Given the description of an element on the screen output the (x, y) to click on. 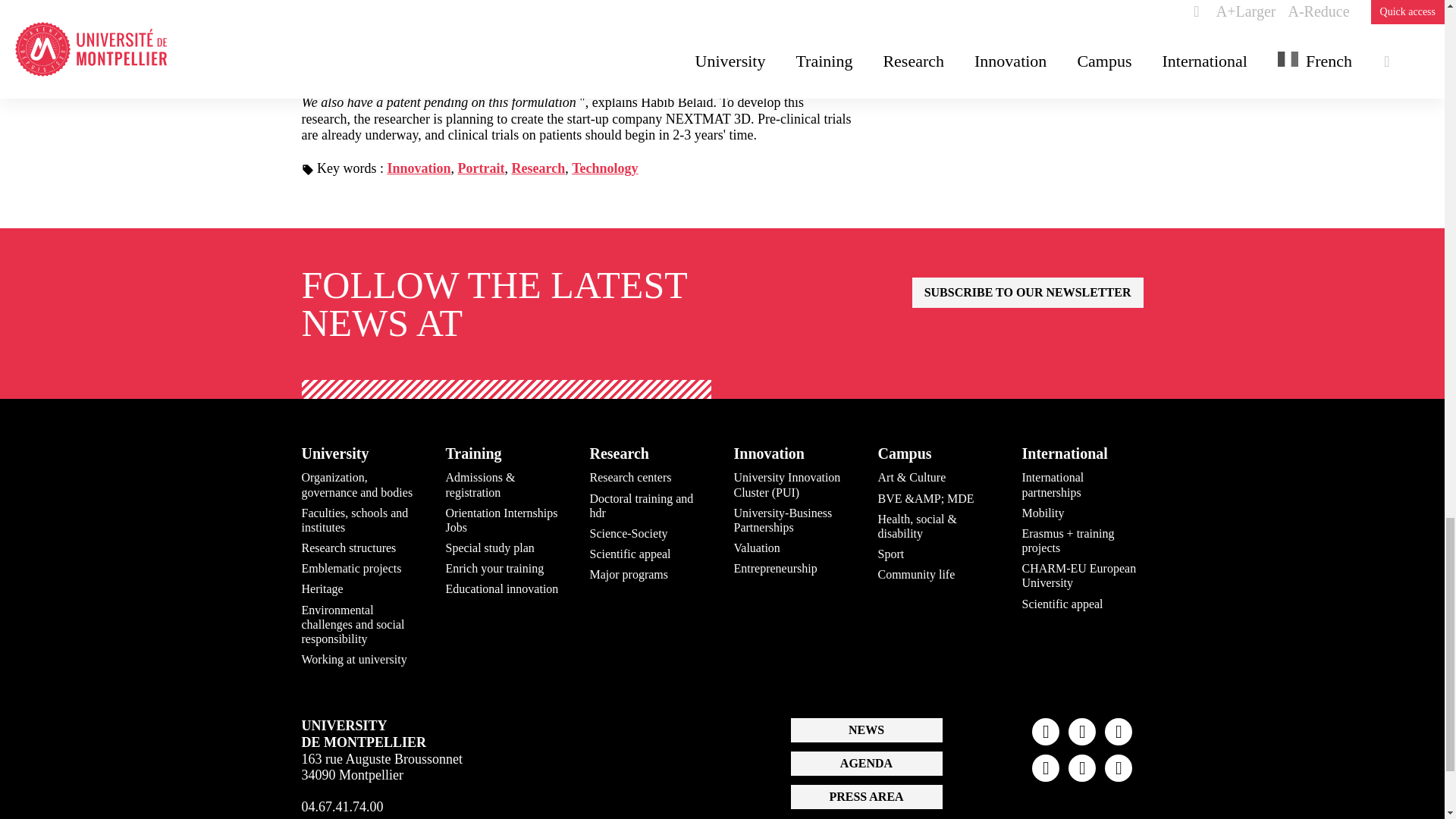
Research (539, 168)
Innovation (418, 168)
Technology (604, 168)
Portrait (481, 168)
